Given the description of an element on the screen output the (x, y) to click on. 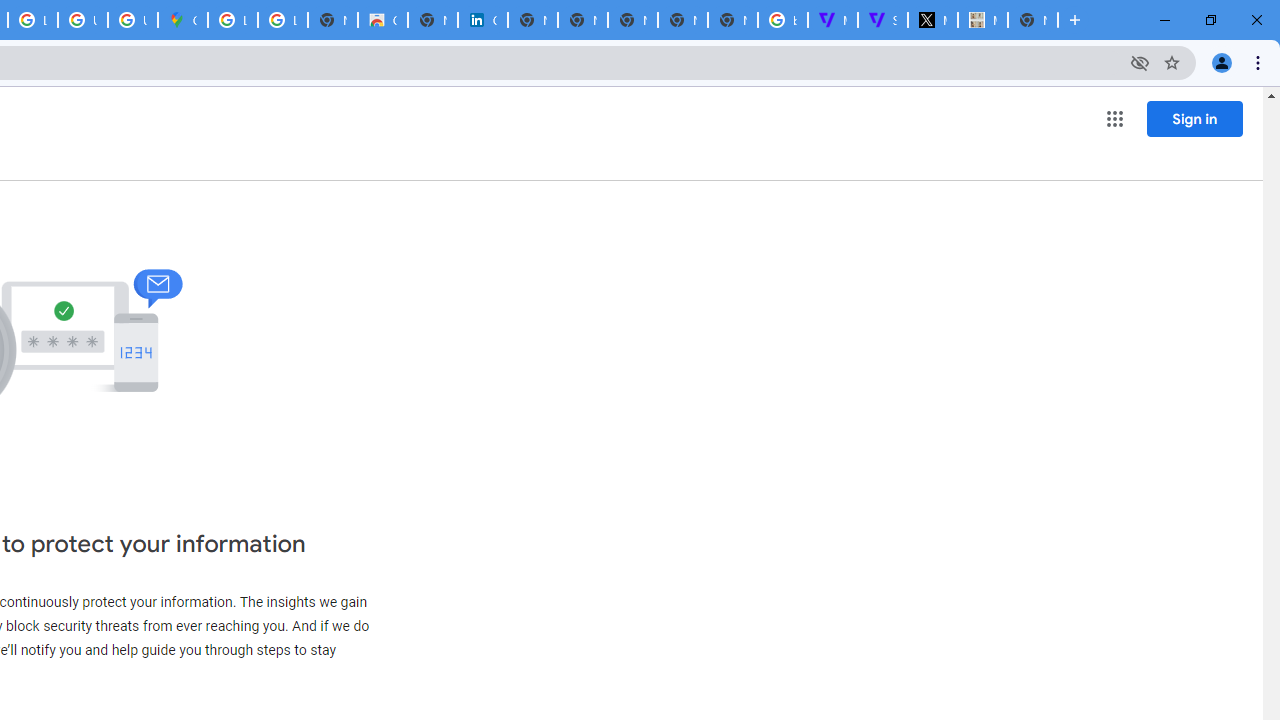
Streaming - The Verge (882, 20)
MILEY CYRUS. (982, 20)
Cookie Policy | LinkedIn (483, 20)
Miley Cyrus (@MileyCyrus) / X (932, 20)
